Given the description of an element on the screen output the (x, y) to click on. 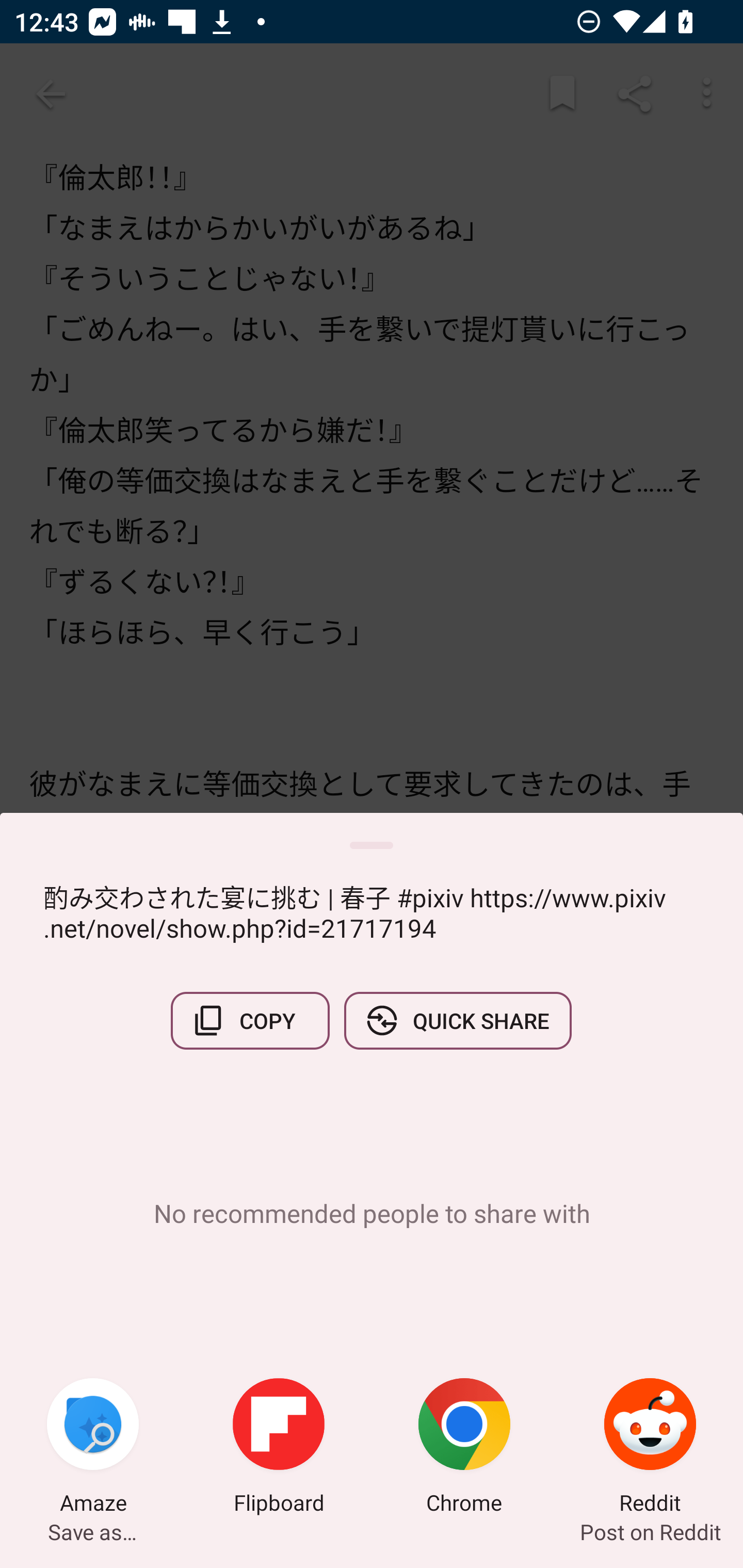
COPY (249, 1020)
QUICK SHARE (457, 1020)
Amaze Save as… (92, 1448)
Flipboard (278, 1448)
Chrome (464, 1448)
Reddit Post on Reddit (650, 1448)
